Given the description of an element on the screen output the (x, y) to click on. 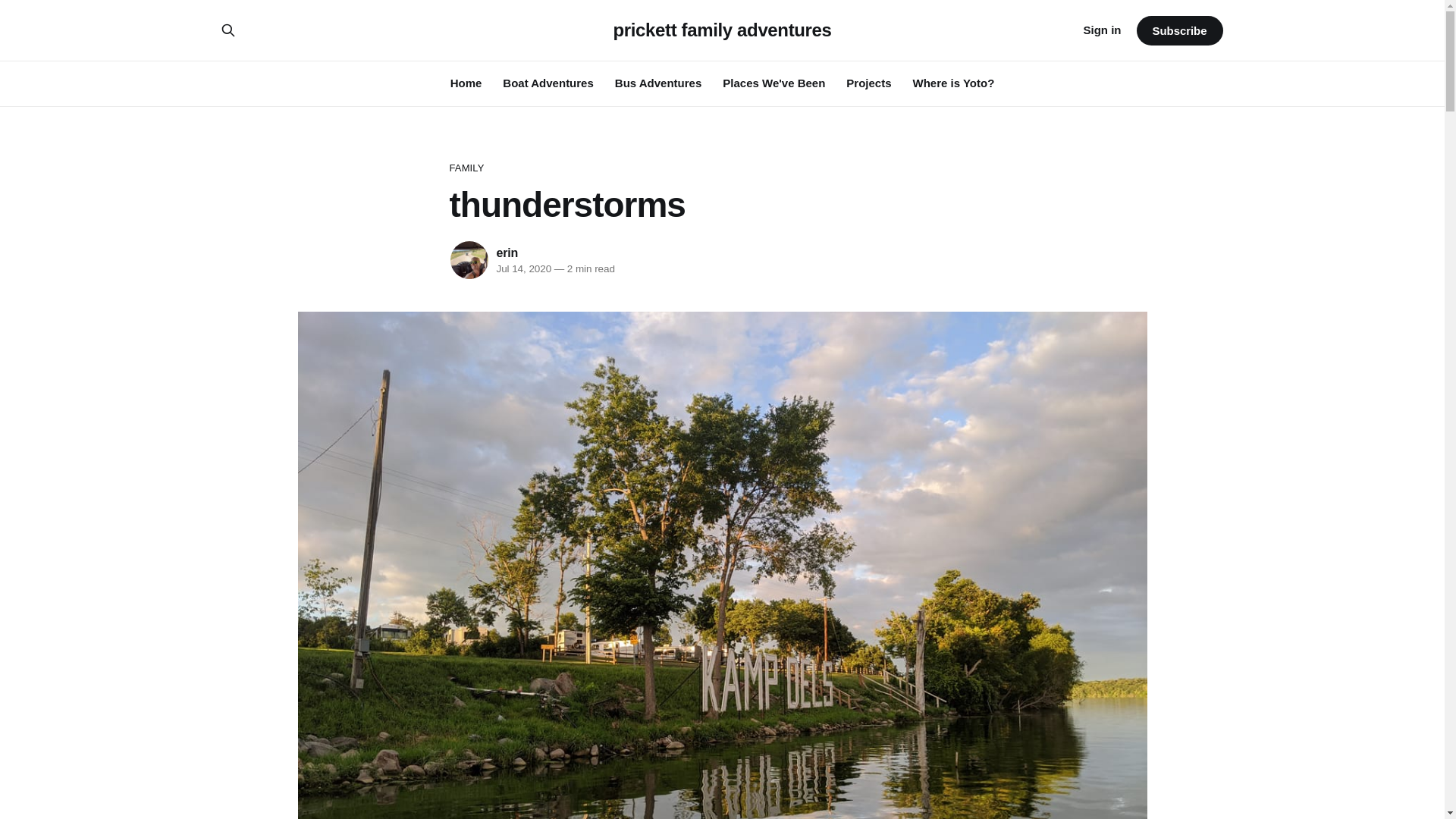
FAMILY (721, 168)
Sign in (1102, 30)
prickett family adventures (721, 30)
Bus Adventures (657, 82)
Subscribe (1179, 30)
Boat Adventures (547, 82)
Home (465, 82)
Projects (868, 82)
Places We've Been (773, 82)
erin (507, 252)
